Given the description of an element on the screen output the (x, y) to click on. 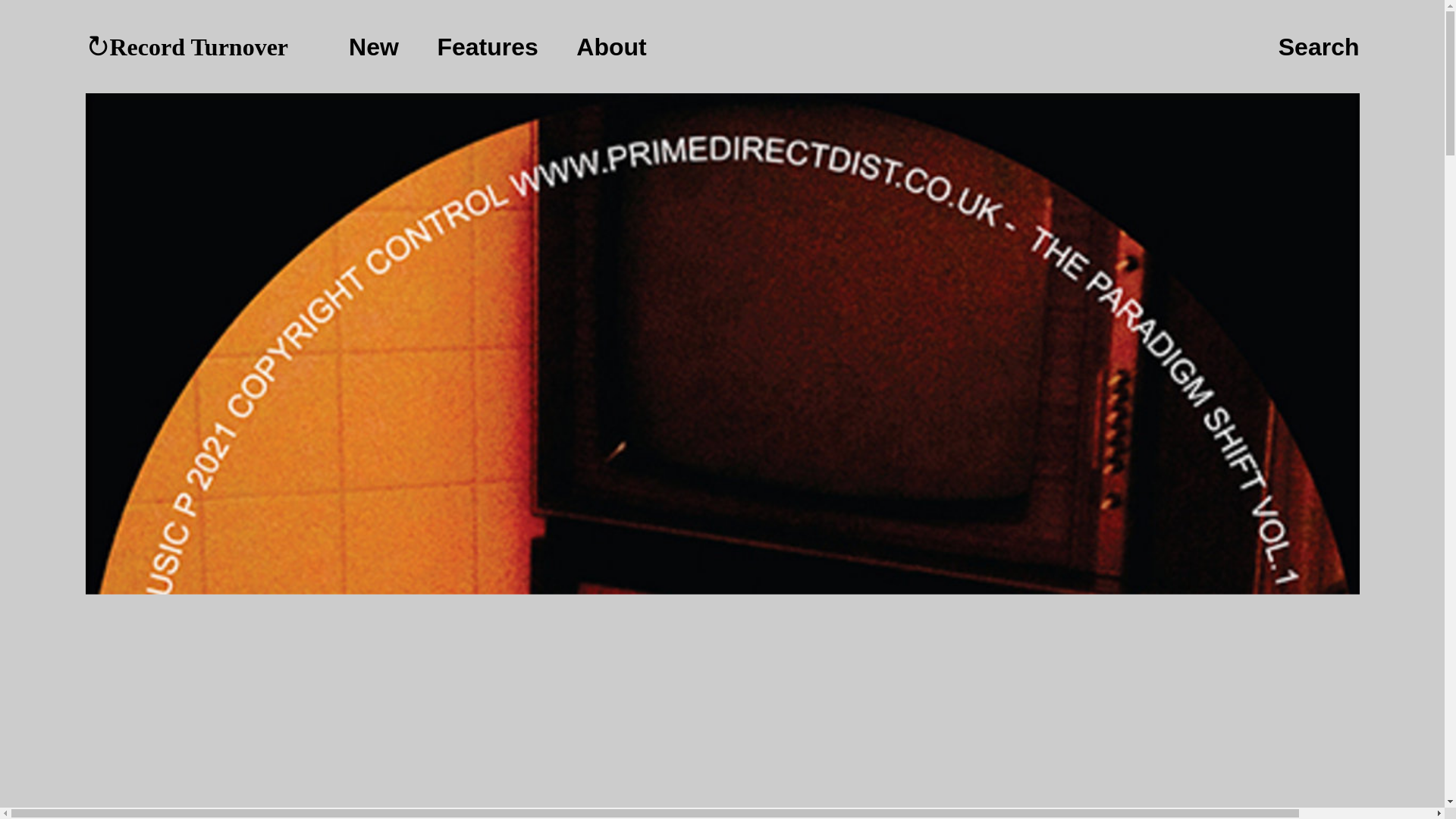
Features (494, 47)
Search (1318, 47)
New (381, 47)
About (611, 47)
